Given the description of an element on the screen output the (x, y) to click on. 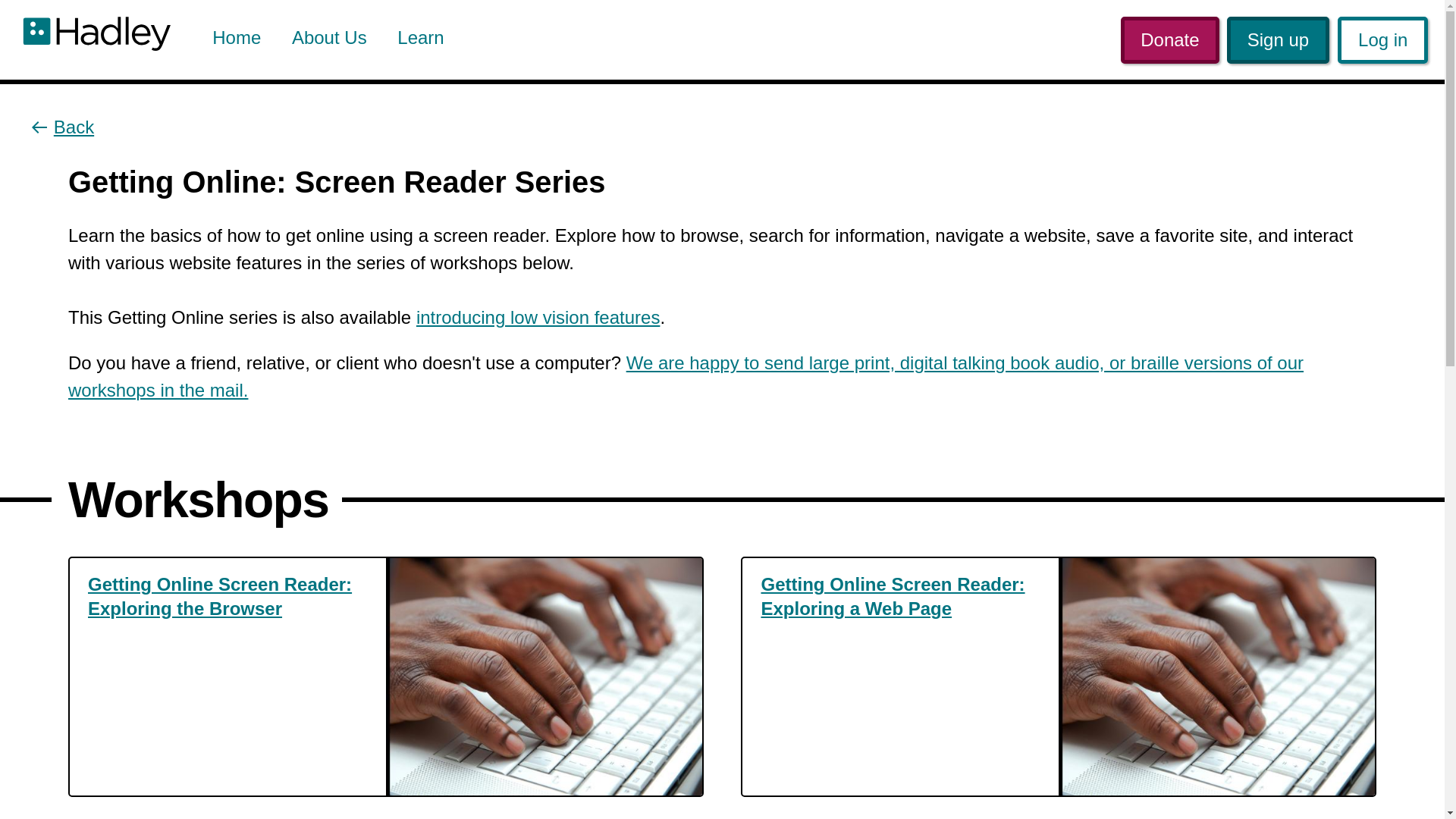
Log in (1383, 39)
Getting Online Screen Reader: Exploring the Browser (227, 596)
Home (236, 37)
introducing low vision features (538, 317)
About Us (329, 37)
Sign up (1278, 39)
Donate (1170, 39)
Back (63, 127)
Getting Online Screen Reader: Exploring a Web Page (900, 596)
Learn (420, 37)
